Given the description of an element on the screen output the (x, y) to click on. 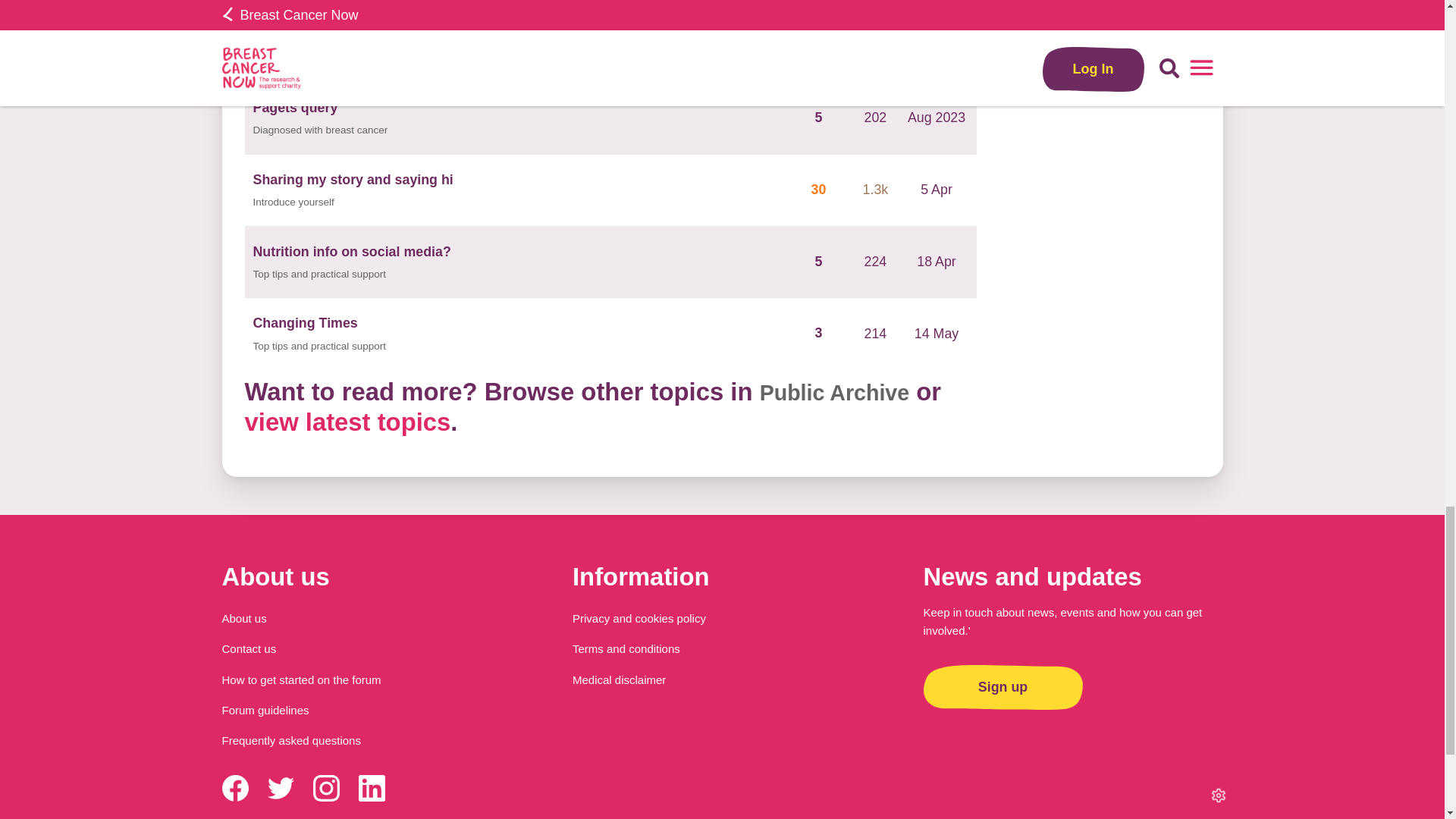
Signatera (283, 35)
Diagnosed with breast cancer (320, 130)
Sharing my story and saying hi (352, 179)
Introduce yourself (293, 202)
Aug 2023 (936, 117)
Aug 2023 (936, 45)
Pagets query (295, 107)
Diagnosed with breast cancer (320, 58)
5 Apr (936, 189)
